Given the description of an element on the screen output the (x, y) to click on. 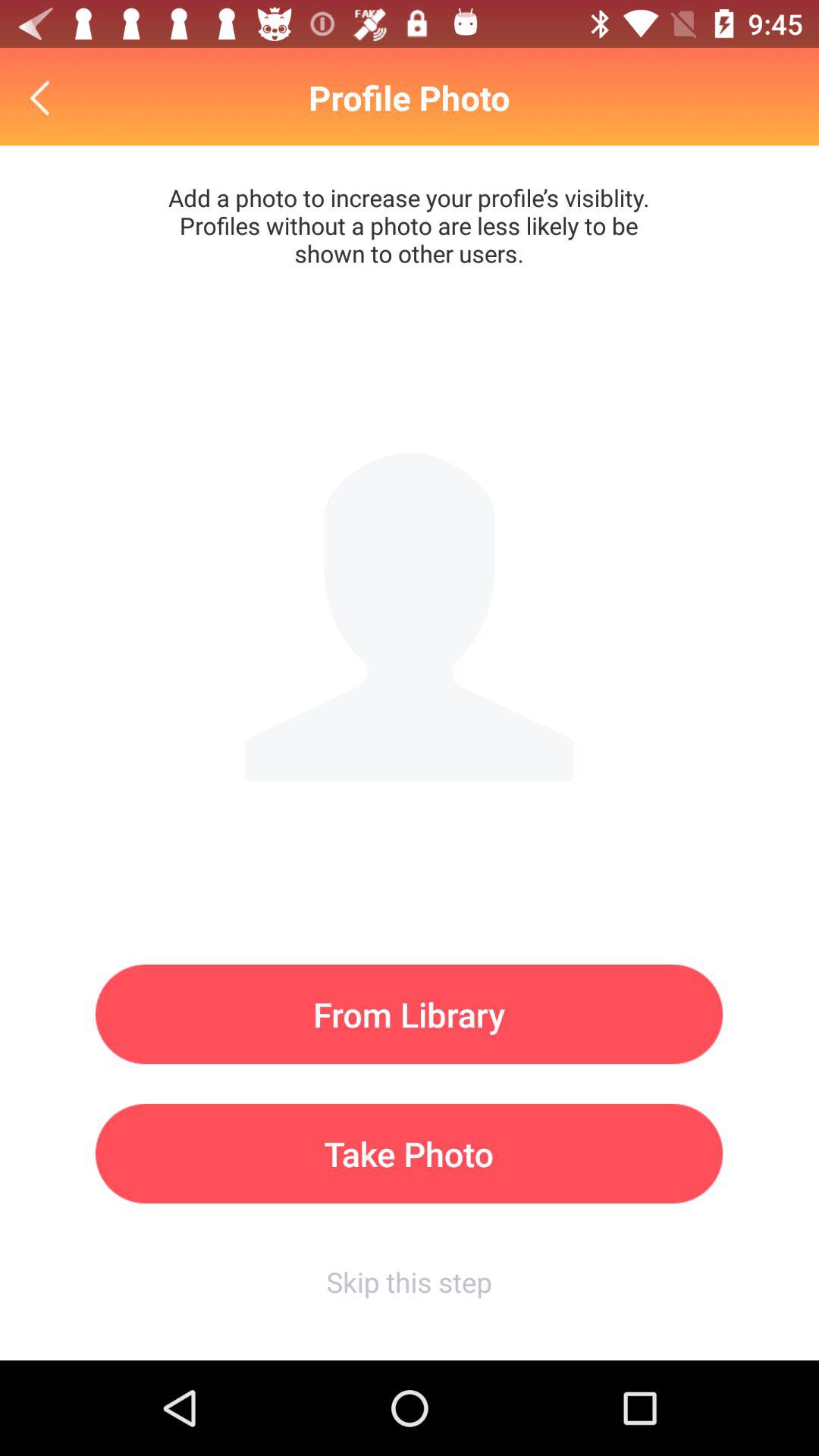
turn on item below the from library icon (408, 1153)
